Given the description of an element on the screen output the (x, y) to click on. 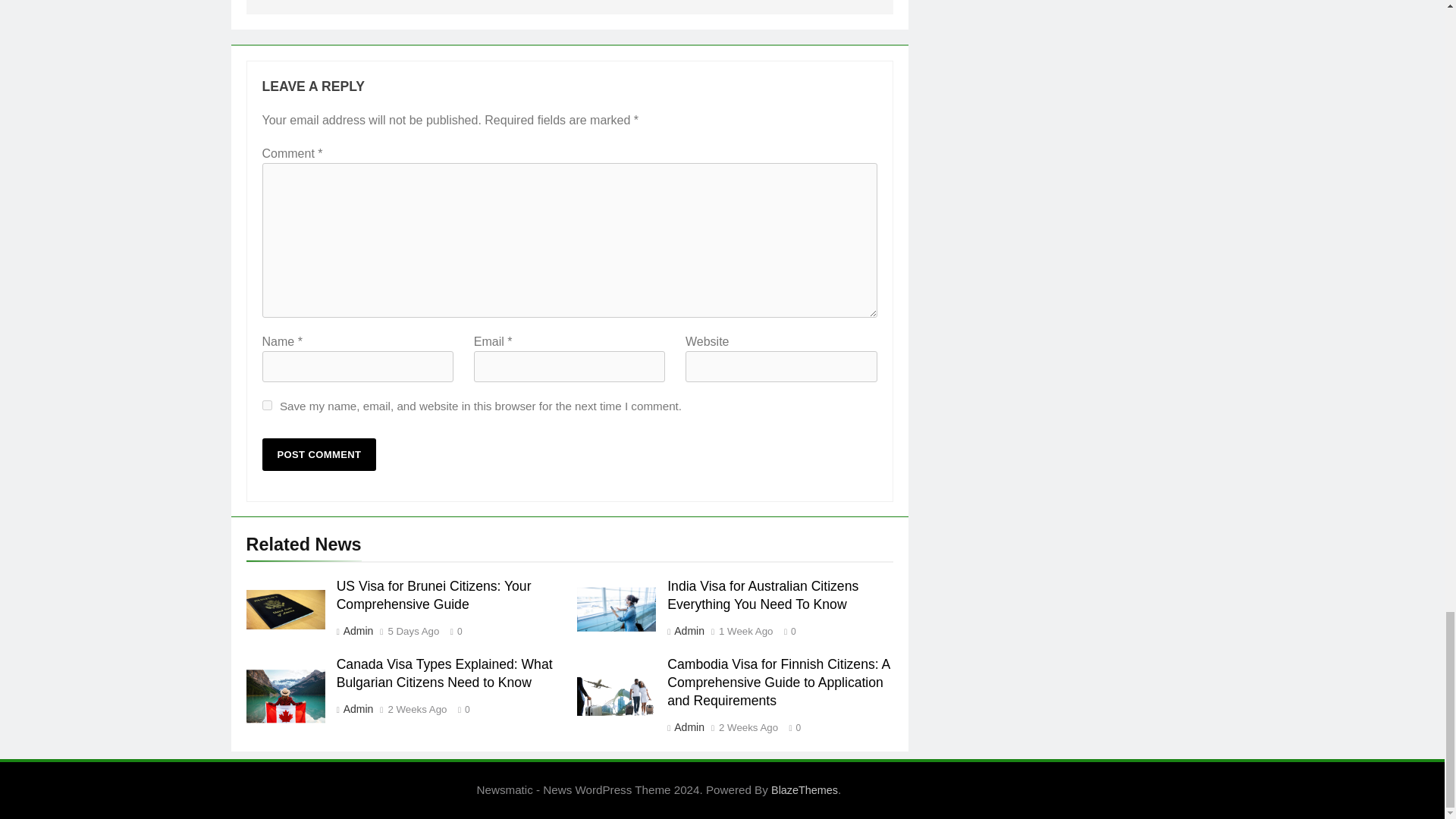
Post Comment (319, 454)
yes (267, 405)
